Given the description of an element on the screen output the (x, y) to click on. 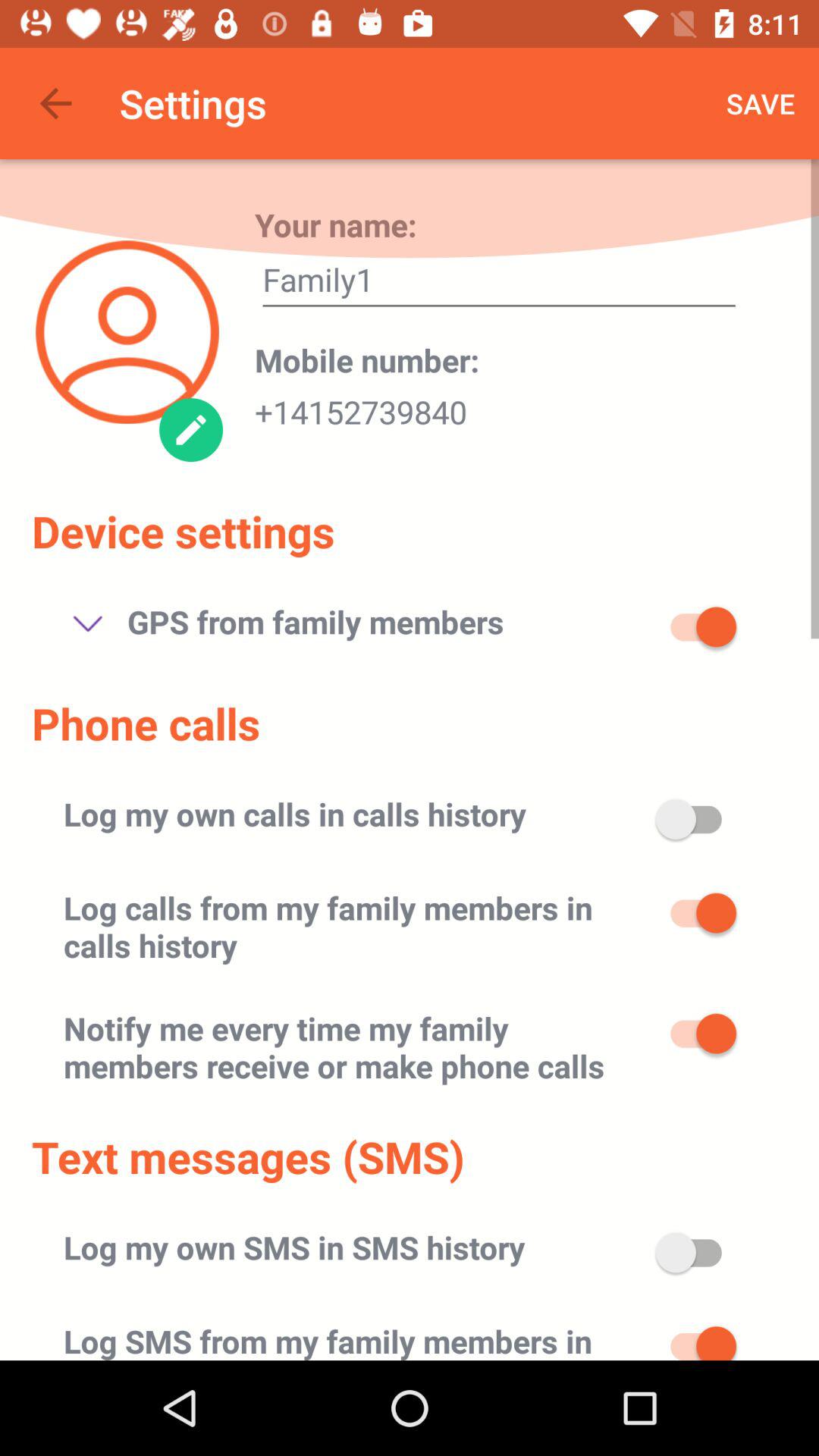
press the save (760, 103)
